Given the description of an element on the screen output the (x, y) to click on. 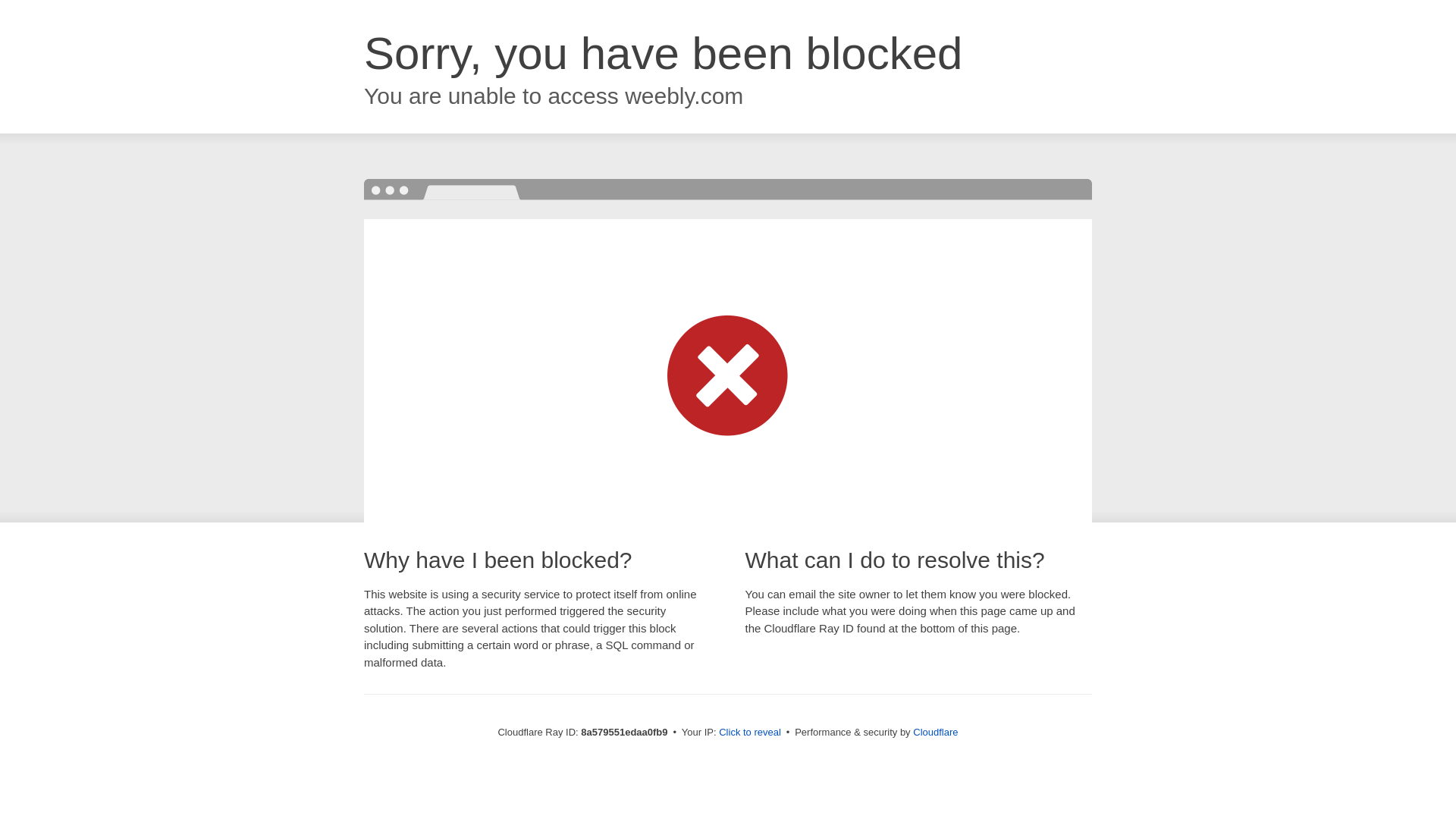
Cloudflare (935, 731)
Click to reveal (749, 732)
